Given the description of an element on the screen output the (x, y) to click on. 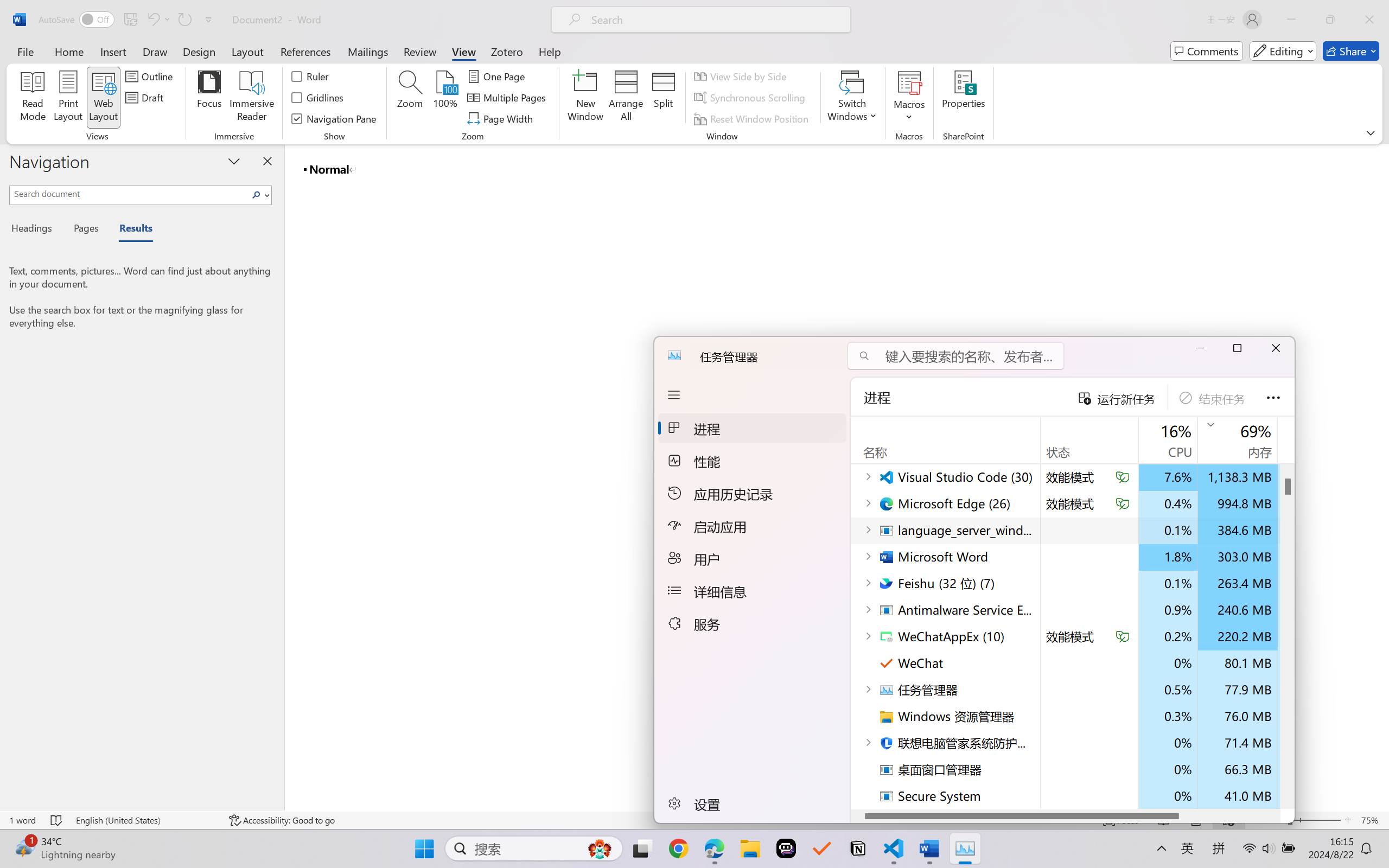
Spelling and Grammar Check No Errors (56, 819)
Page Width (501, 118)
Properties (963, 97)
